Given the description of an element on the screen output the (x, y) to click on. 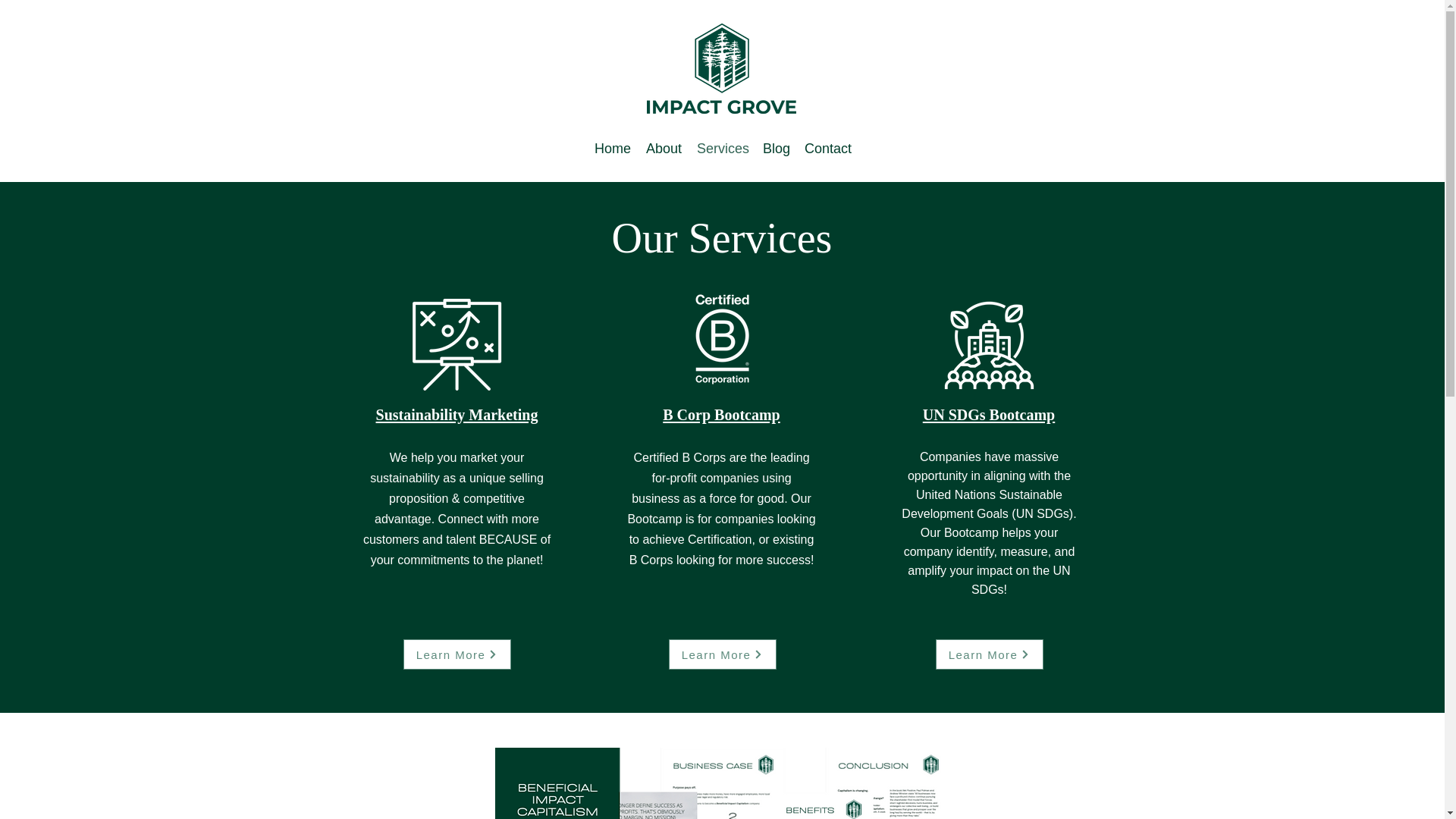
Home (612, 147)
Learn More (457, 654)
Learn More (722, 654)
UN SDGs Bootcamp (988, 414)
Learn More (989, 654)
Blog (775, 147)
Sustainability Marketing (456, 414)
Contact (826, 147)
About (663, 147)
B Corp Bootcamp (720, 414)
